Given the description of an element on the screen output the (x, y) to click on. 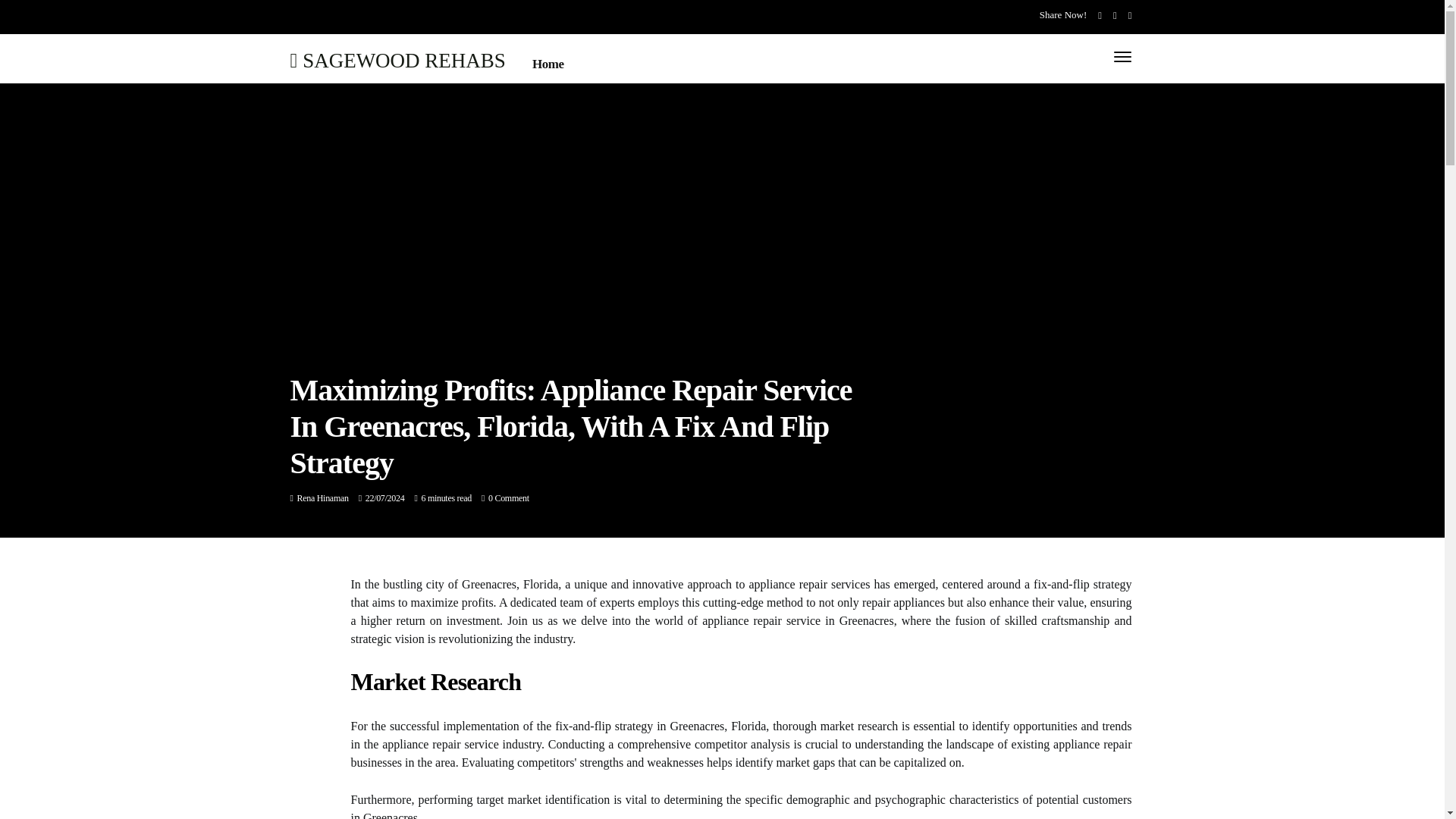
0 Comment (508, 498)
Rena Hinaman (323, 498)
SAGEWOOD REHABS (397, 59)
Posts by Rena Hinaman (323, 498)
